Given the description of an element on the screen output the (x, y) to click on. 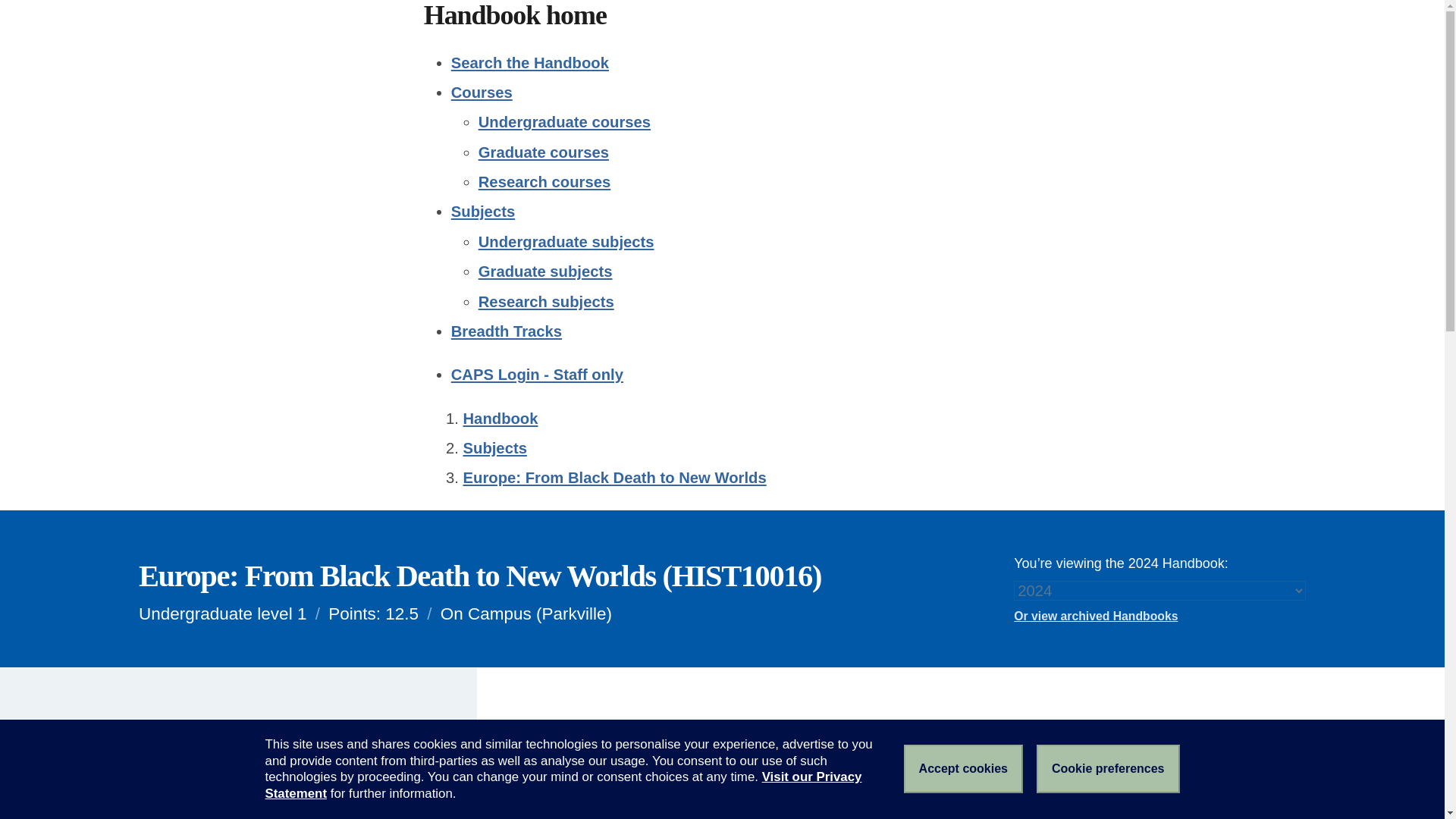
Research courses (544, 181)
Graduate subjects (545, 271)
Research subjects (546, 300)
CAPS Login - Staff only (537, 374)
View full page (223, 745)
Accept cookies (963, 768)
Subjects (494, 447)
Undergraduate courses (564, 121)
Or view archived Handbooks (1159, 616)
Europe: From Black Death to New Worlds (614, 477)
Search the Handbook (529, 62)
Courses (481, 92)
Subjects (483, 211)
Handbook (500, 418)
Breadth Tracks (506, 330)
